Given the description of an element on the screen output the (x, y) to click on. 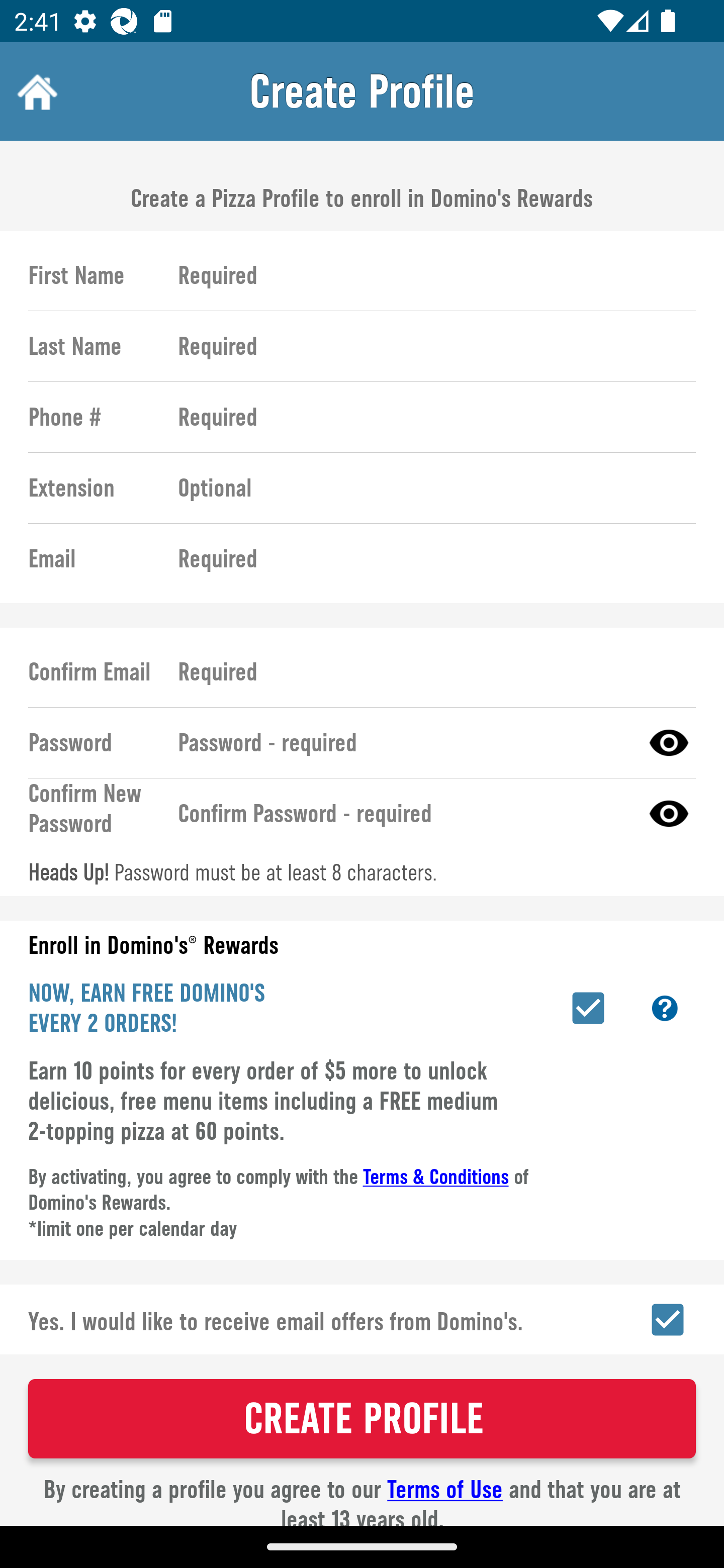
Home (35, 91)
Required First Name is required. 
 (427, 274)
Required Last Name is required. 
 (427, 345)
Required Phone Number is required. 
 (427, 416)
Optional Phone extension, optional (427, 488)
Required Email is required. 
 (427, 558)
Required Confirm Email Address (427, 671)
Password - required (401, 742)
Show Password (668, 742)
Confirm Password - required (401, 812)
Show Password (668, 812)
Enroll in Piece of the Pie Rewards (588, 1008)
CREATE PROFILE (361, 1418)
